Given the description of an element on the screen output the (x, y) to click on. 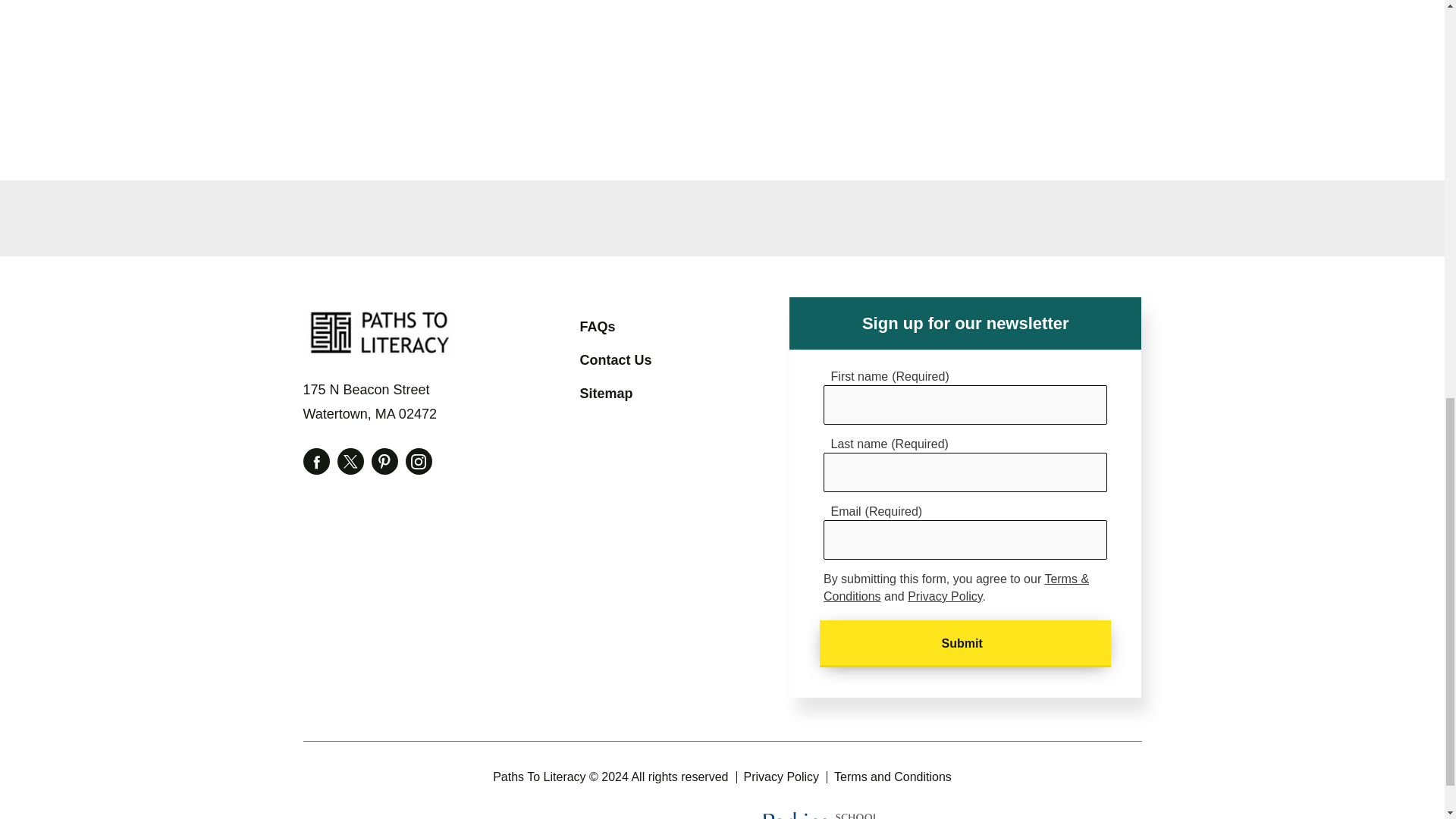
Submit (965, 643)
Perkins School for the Blind Logo (819, 815)
